Given the description of an element on the screen output the (x, y) to click on. 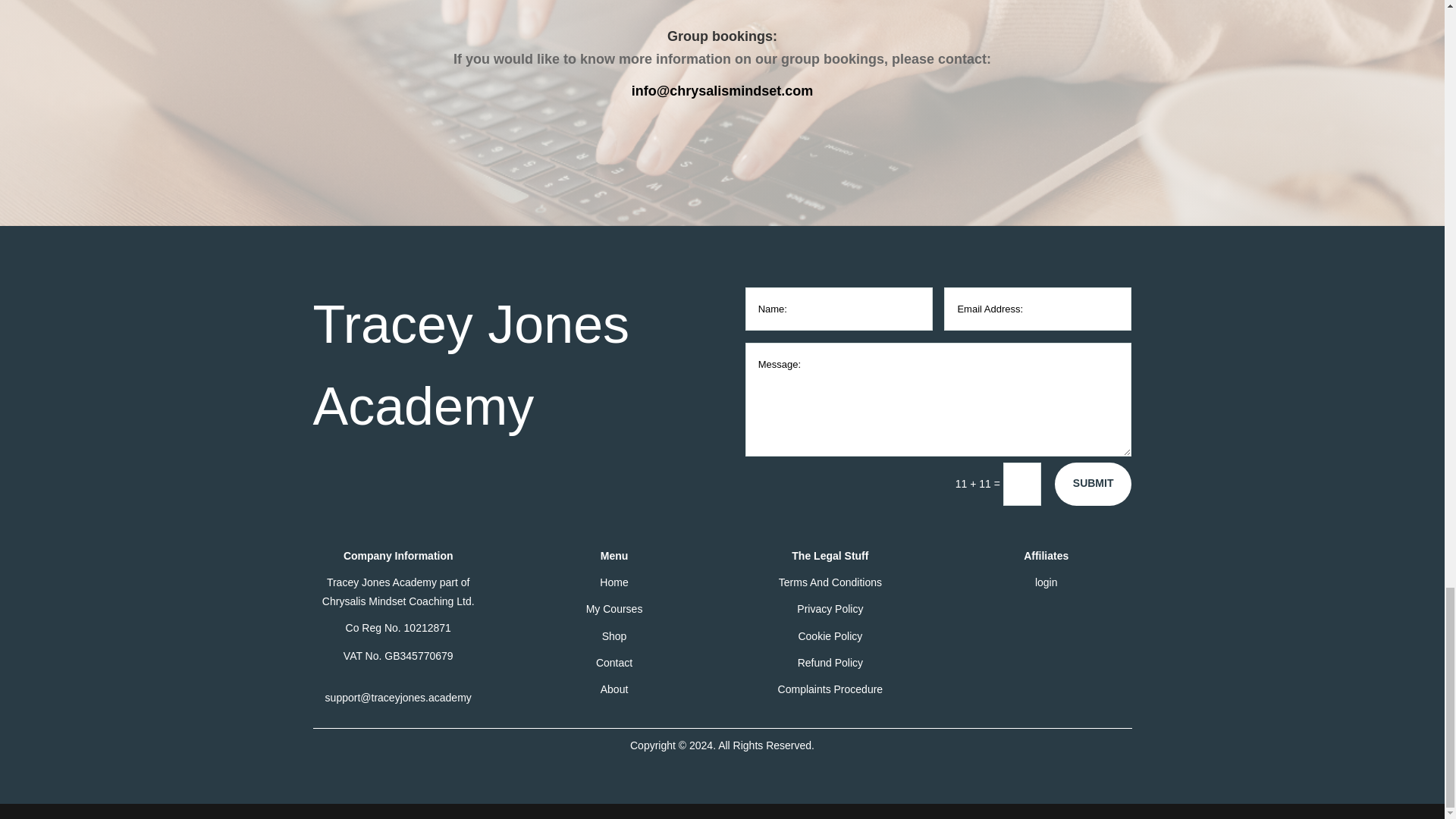
SUBMIT (1093, 484)
